Given the description of an element on the screen output the (x, y) to click on. 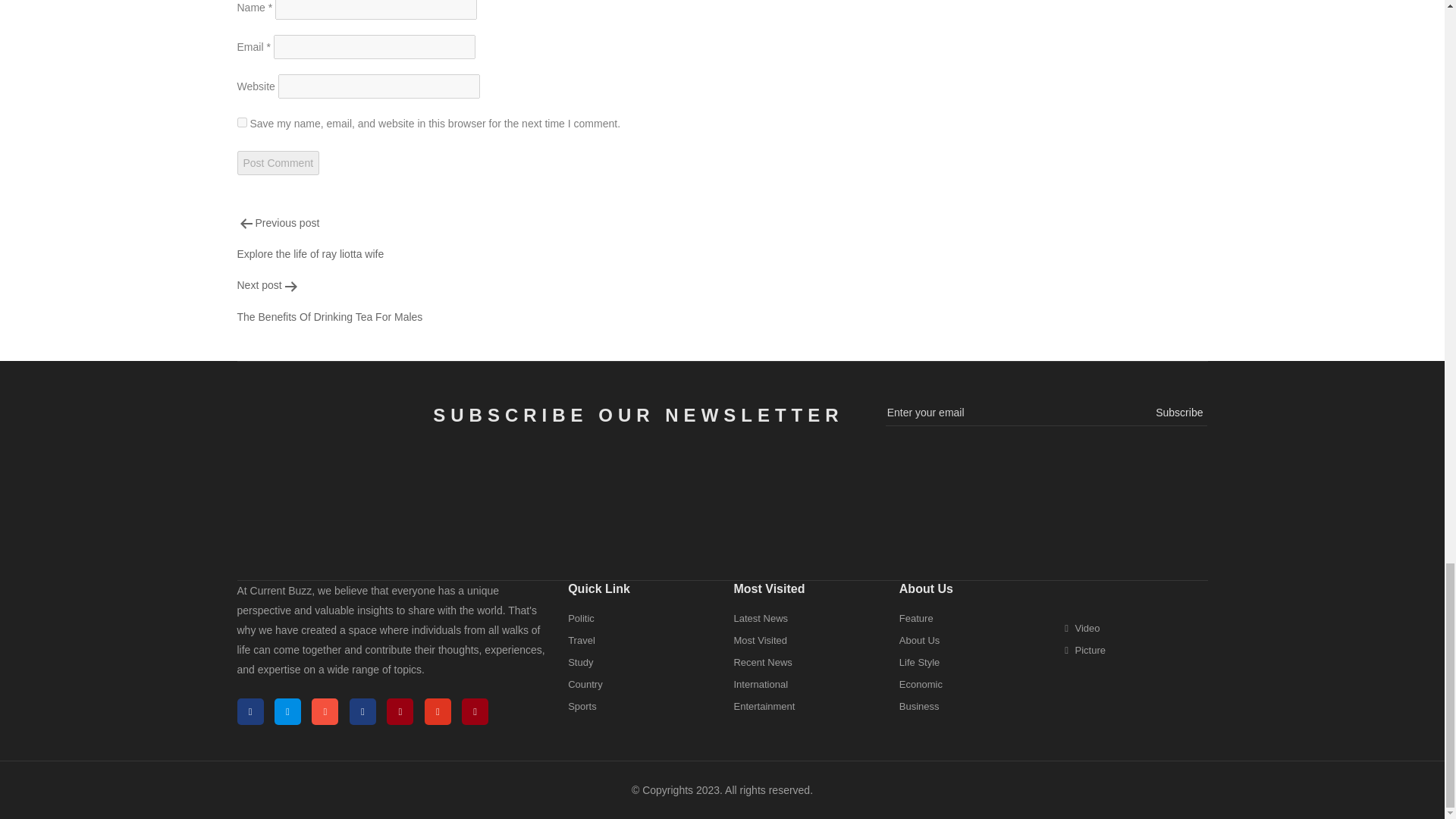
yes (555, 300)
Post Comment (555, 237)
Post Comment (240, 122)
